Given the description of an element on the screen output the (x, y) to click on. 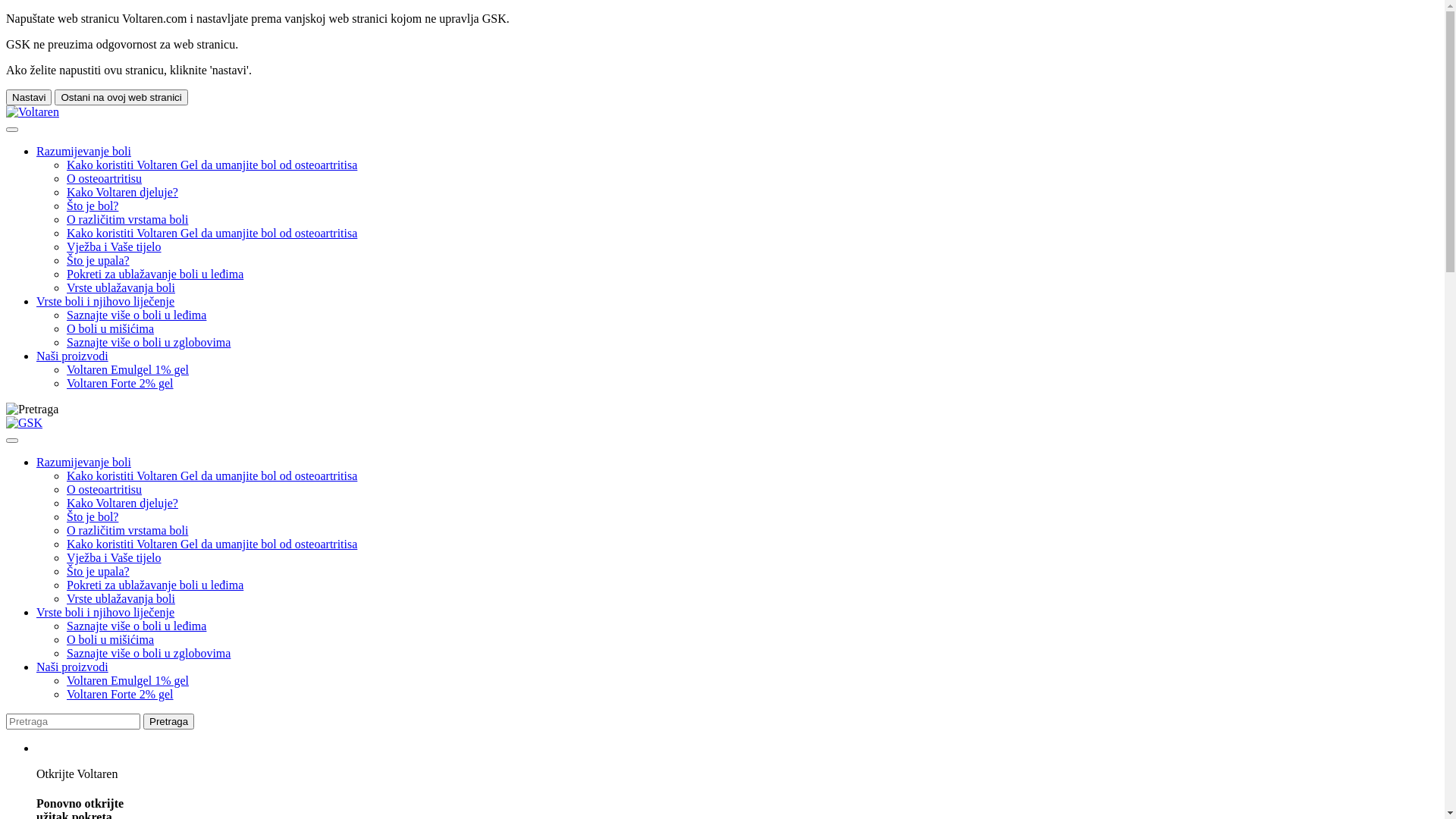
Voltaren Emulgel 1% gel Element type: text (127, 680)
O osteoartritisu Element type: text (103, 178)
Voltaren Element type: hover (32, 112)
Voltaren Forte 2% gel Element type: text (119, 693)
Pretraga Element type: text (168, 721)
O osteoartritisu Element type: text (103, 489)
GSK Element type: hover (24, 422)
Razumijevanje boli Element type: text (83, 461)
Pretraga Element type: hover (32, 409)
Kako Voltaren djeluje? Element type: text (122, 502)
Razumijevanje boli Element type: text (83, 150)
Voltaren Forte 2% gel Element type: text (119, 382)
Nastavi Element type: text (28, 97)
Ostani na ovoj web stranici Element type: text (120, 97)
Voltaren Emulgel 1% gel Element type: text (127, 369)
Kako Voltaren djeluje? Element type: text (122, 191)
